Given the description of an element on the screen output the (x, y) to click on. 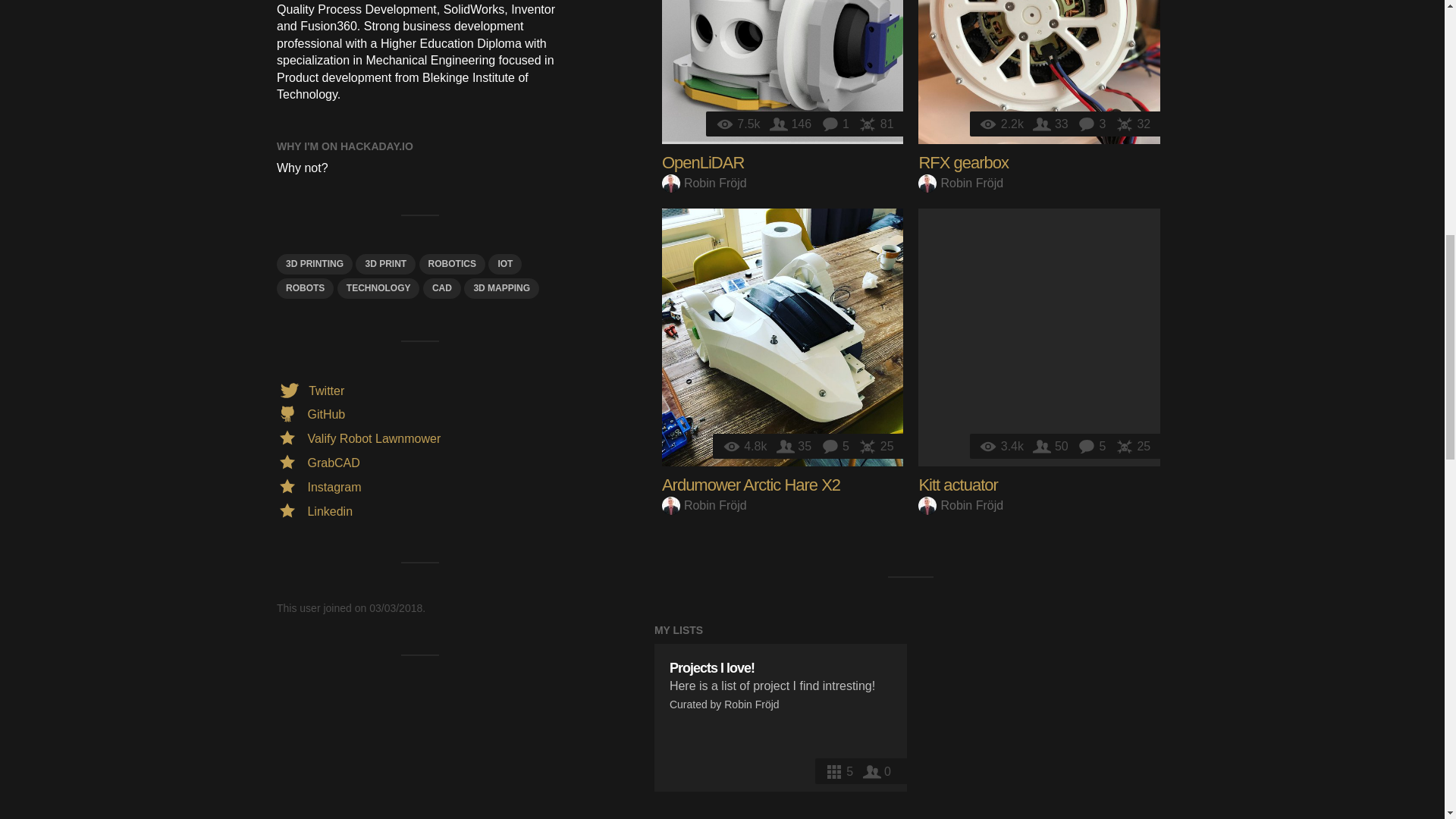
View Count (739, 123)
ROBOTS (304, 288)
TECHNOLOGY (378, 288)
CAD (442, 288)
Followers (792, 123)
IOT (504, 263)
3D PRINTING (314, 263)
ROBOTICS (451, 263)
3D PRINT (384, 263)
